Given the description of an element on the screen output the (x, y) to click on. 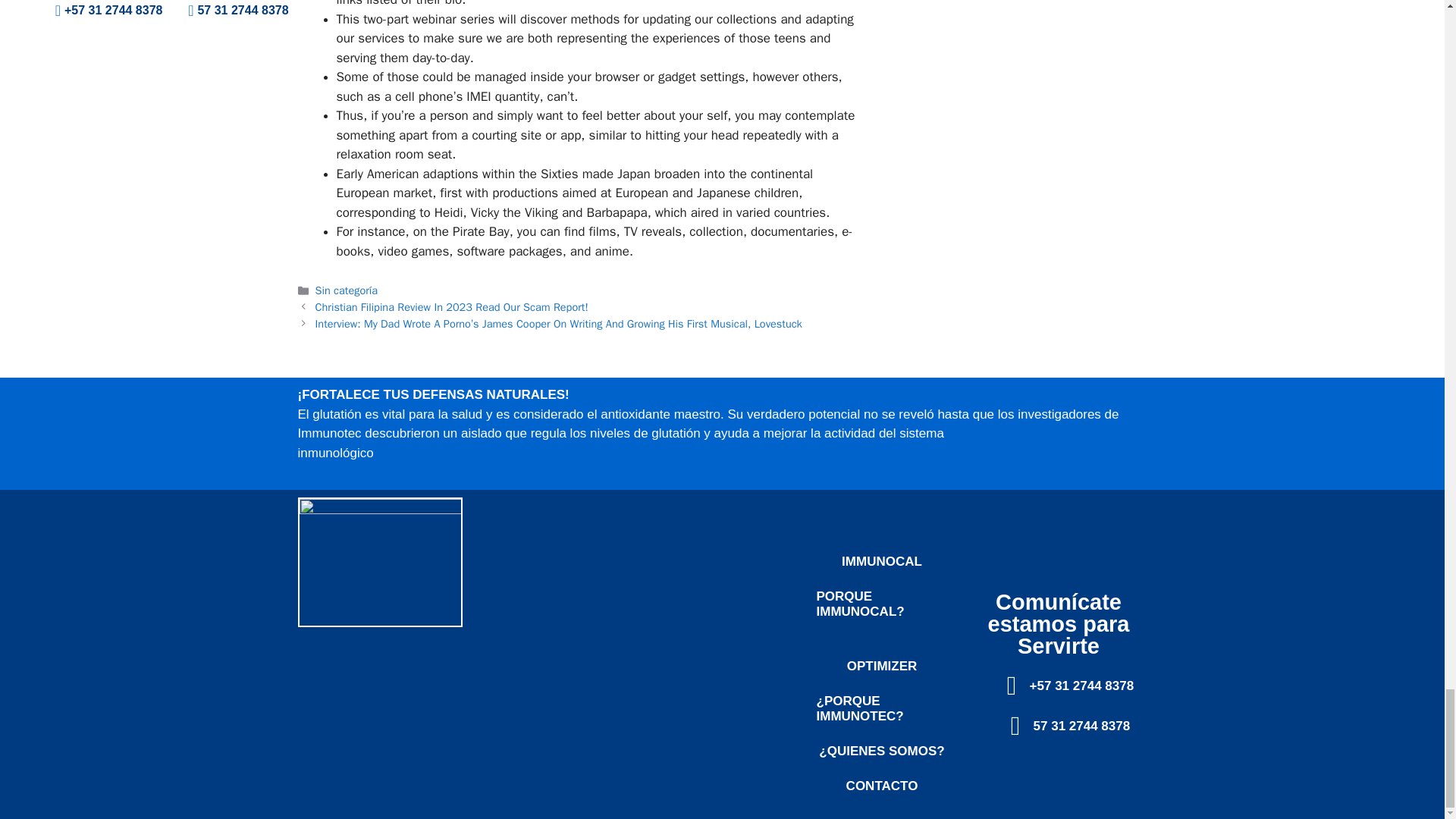
Anterior (451, 306)
Christian Filipina Review In 2023 Read Our Scam Report! (451, 306)
Siguiente (558, 323)
